Given the description of an element on the screen output the (x, y) to click on. 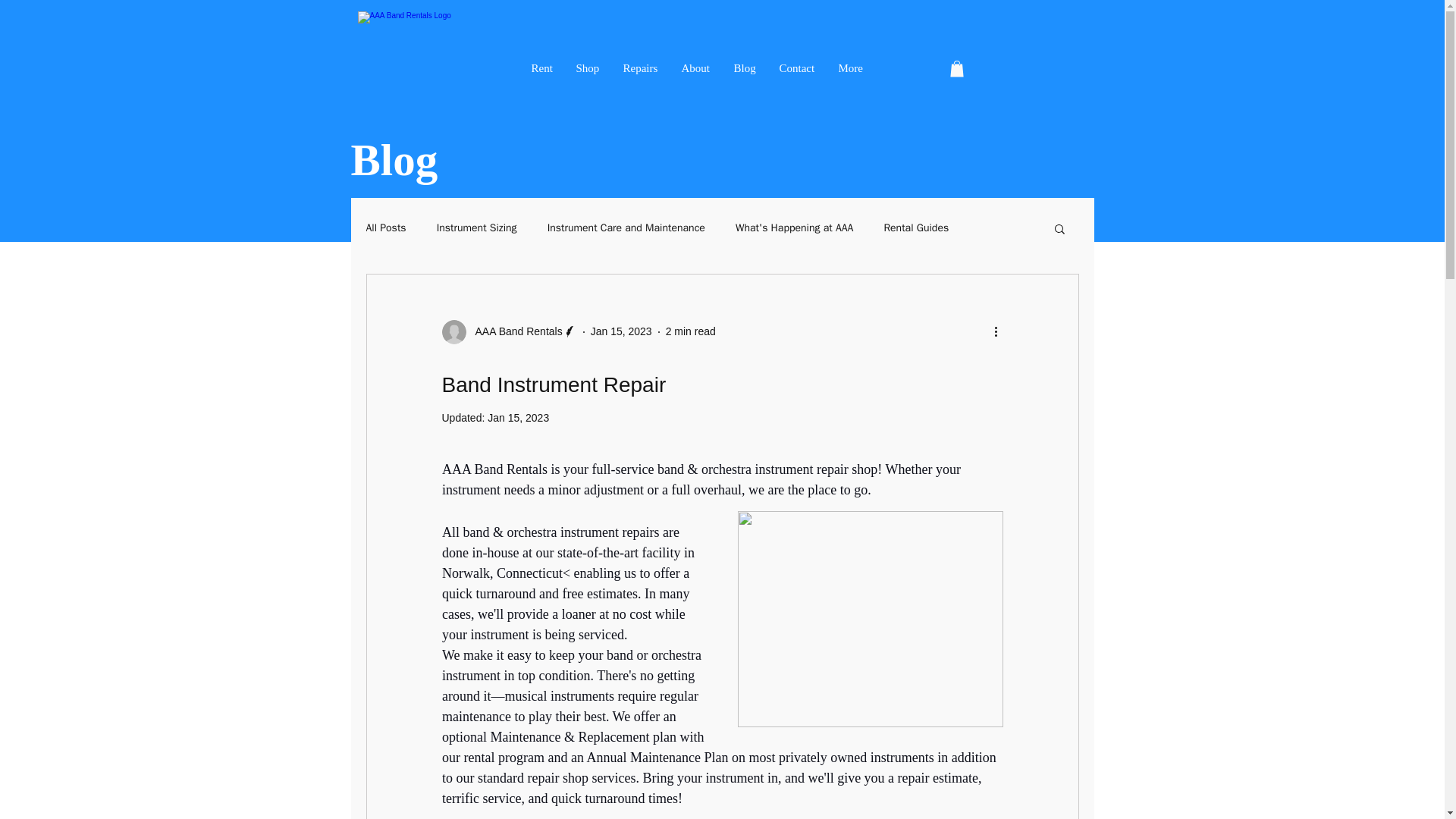
Instrument Sizing (476, 228)
Jan 15, 2023 (621, 331)
Rental Guides (916, 228)
Instrument Care and Maintenance (625, 228)
AAA Band Rentals (513, 331)
2 min read (690, 331)
All Posts (385, 228)
What's Happening at AAA (794, 228)
Jan 15, 2023 (517, 417)
AAA Band Rentals (508, 331)
